Given the description of an element on the screen output the (x, y) to click on. 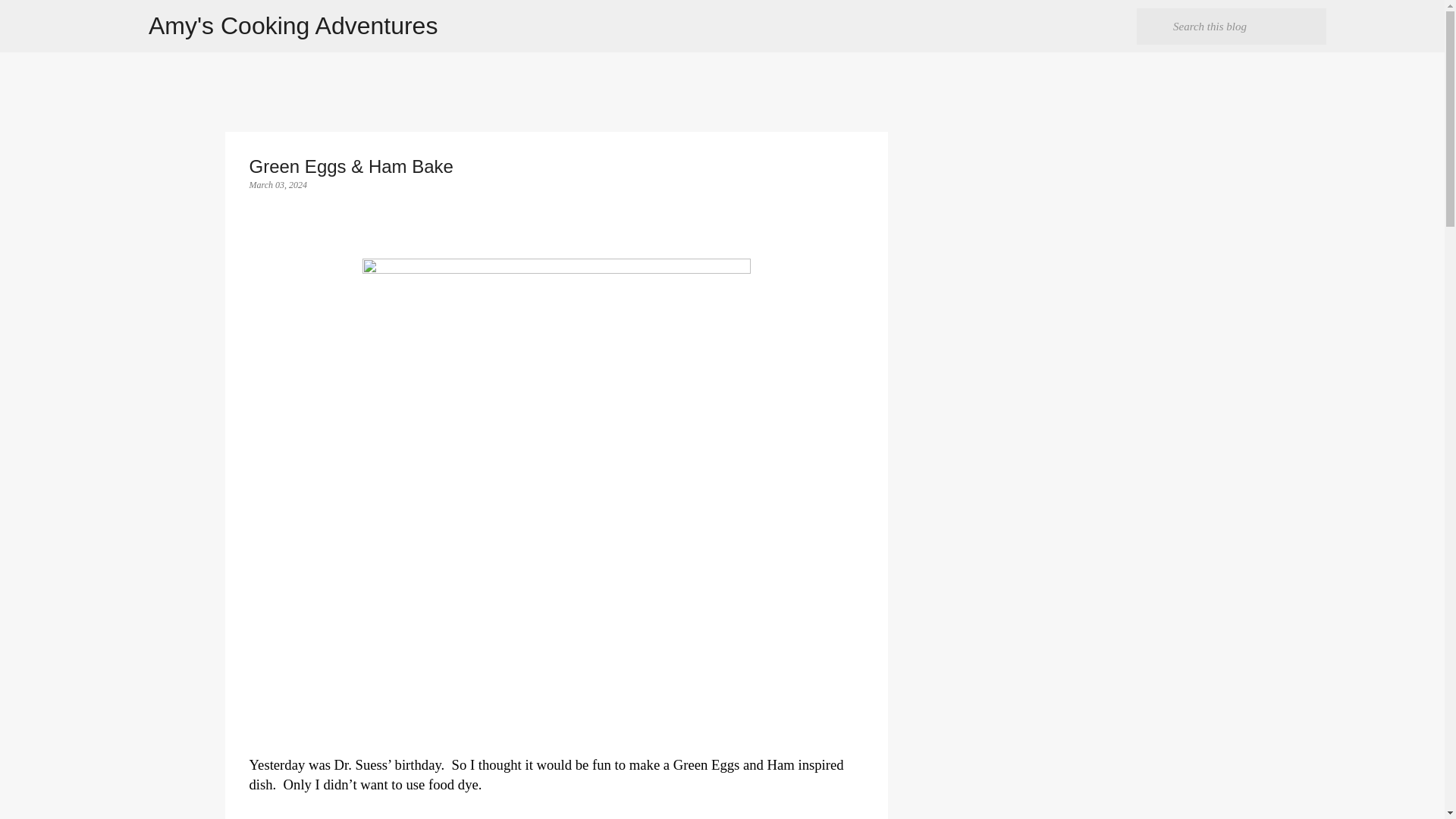
March 03, 2024 (277, 184)
Amy's Cooking Adventures (293, 25)
permanent link (277, 184)
